Given the description of an element on the screen output the (x, y) to click on. 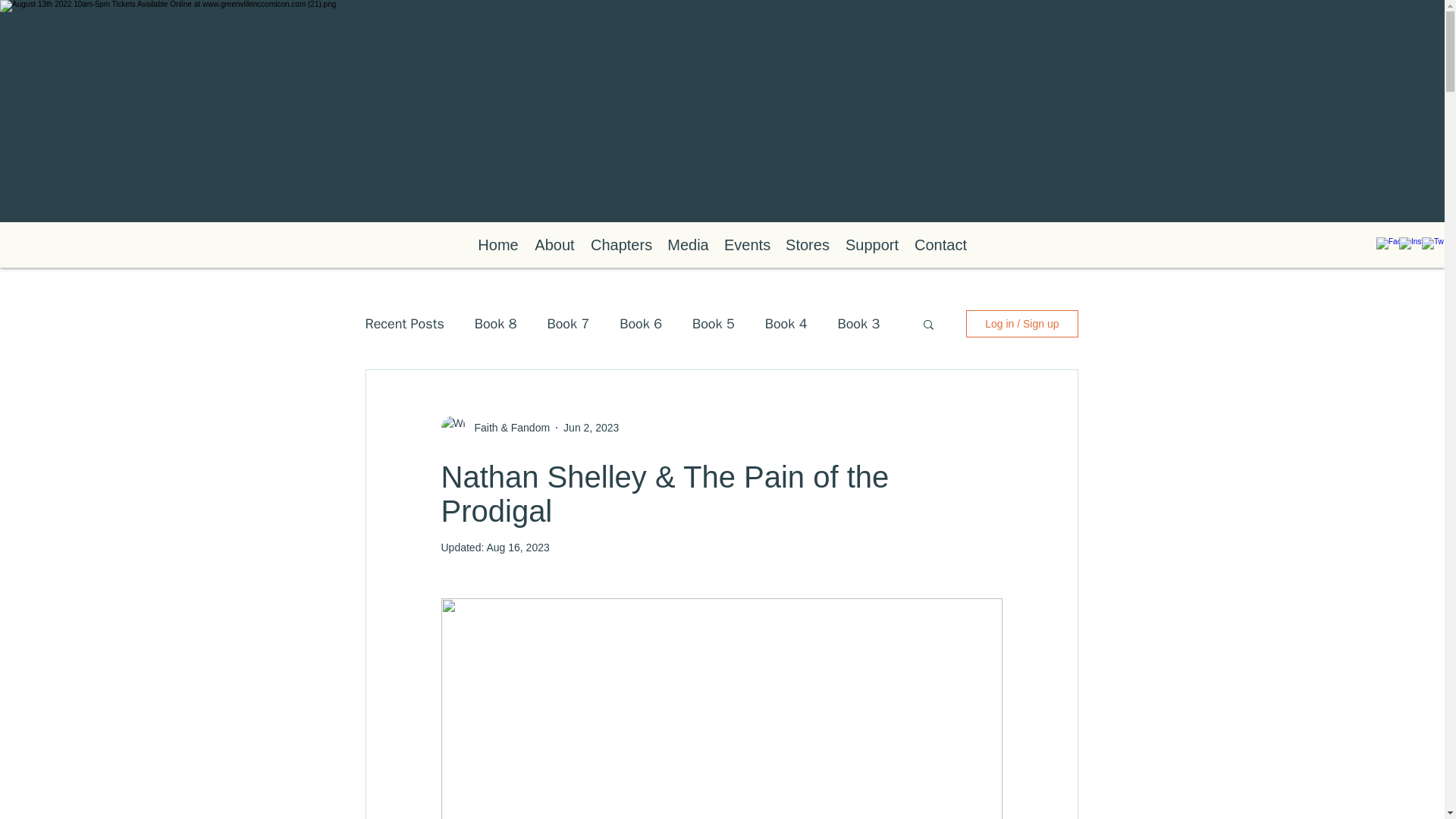
About (554, 244)
Home (497, 244)
Stores (807, 244)
Book 4 (786, 323)
Aug 16, 2023 (517, 547)
Book 3 (859, 323)
Recent Posts (404, 323)
Jun 2, 2023 (590, 427)
Book 7 (568, 323)
Book 5 (714, 323)
